Given the description of an element on the screen output the (x, y) to click on. 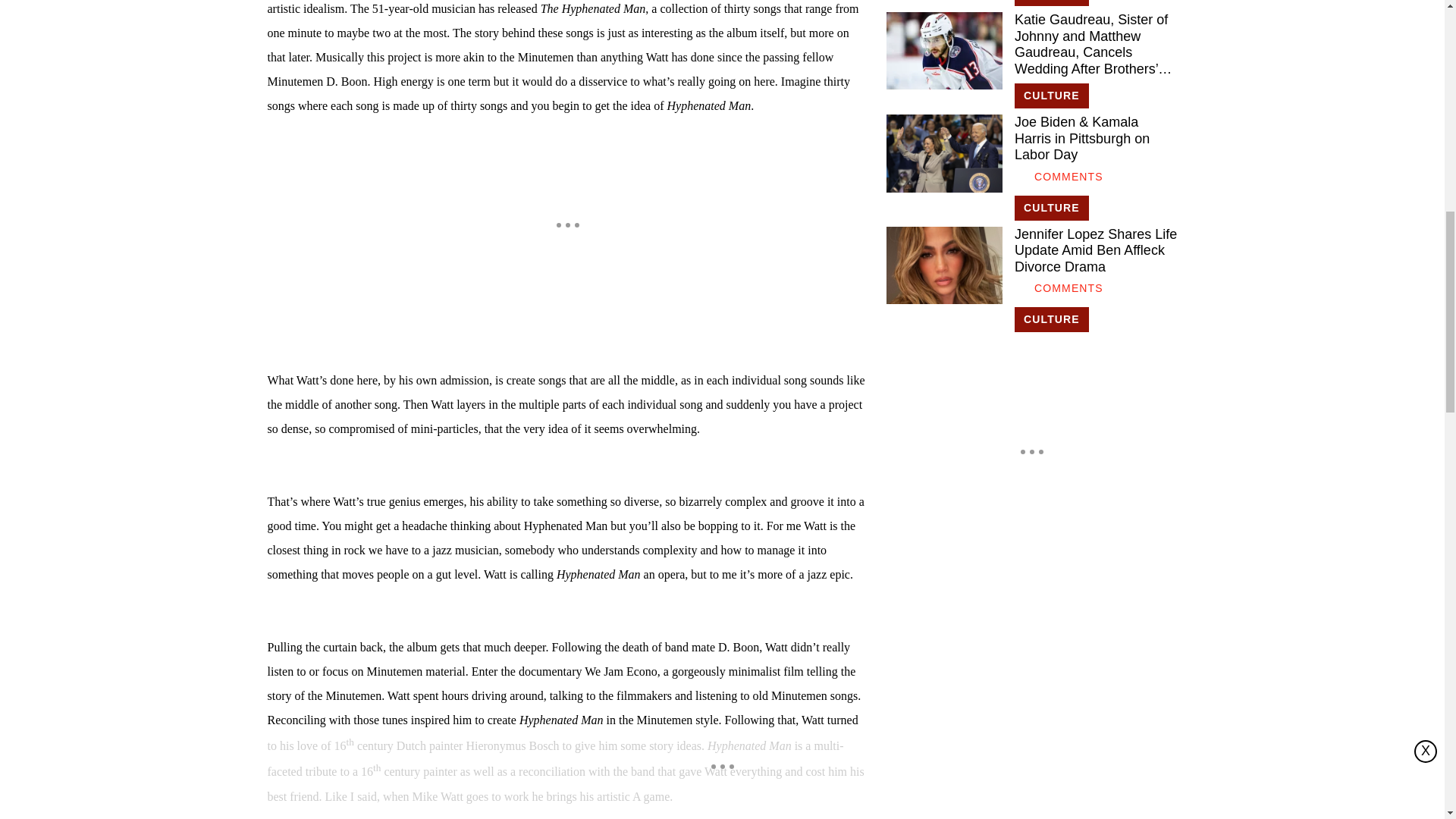
CULTURE (1051, 95)
CULTURE (1051, 2)
CULTURE (1051, 207)
